Given the description of an element on the screen output the (x, y) to click on. 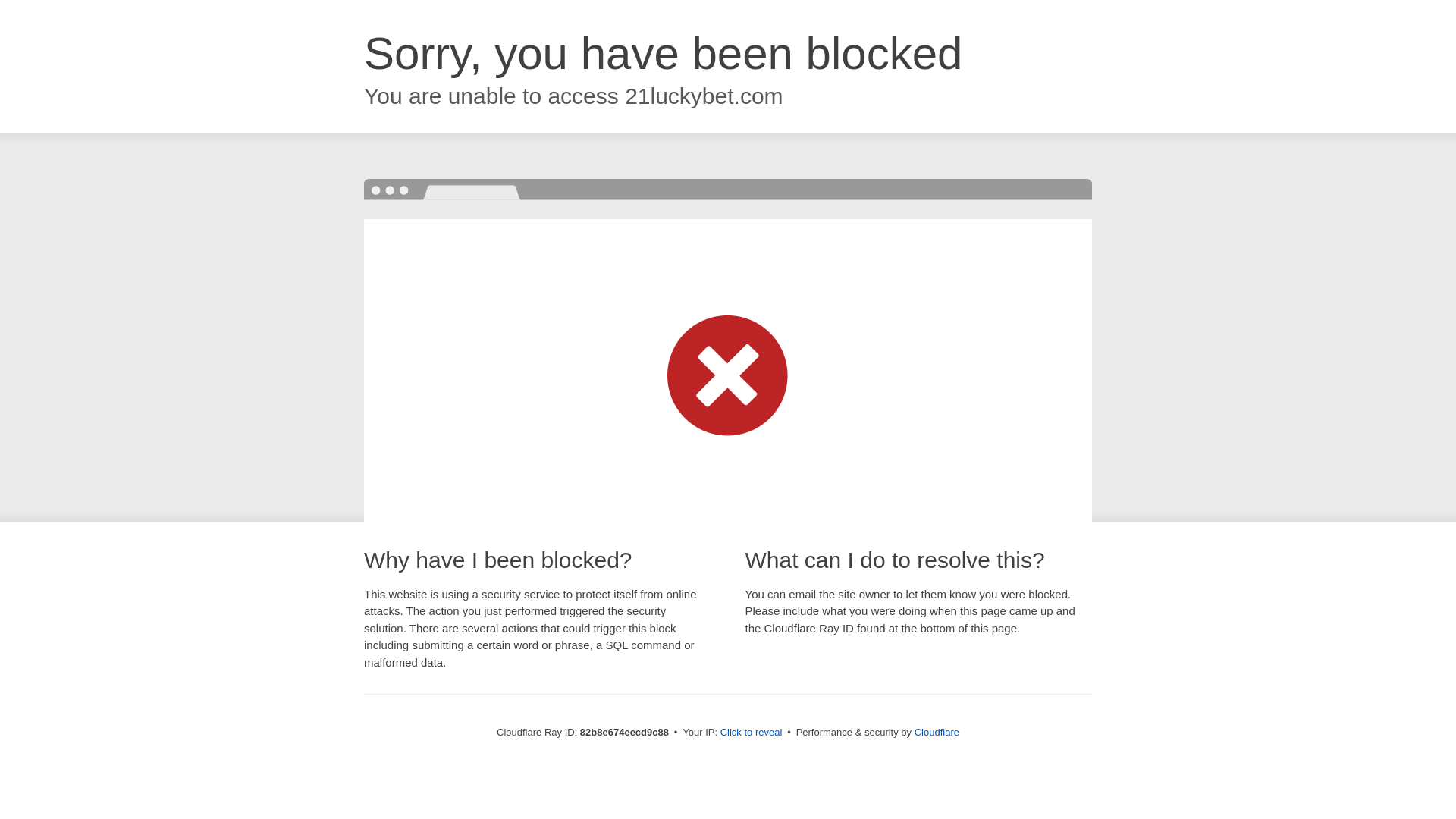
Click to reveal Element type: text (751, 732)
Cloudflare Element type: text (936, 731)
